Given the description of an element on the screen output the (x, y) to click on. 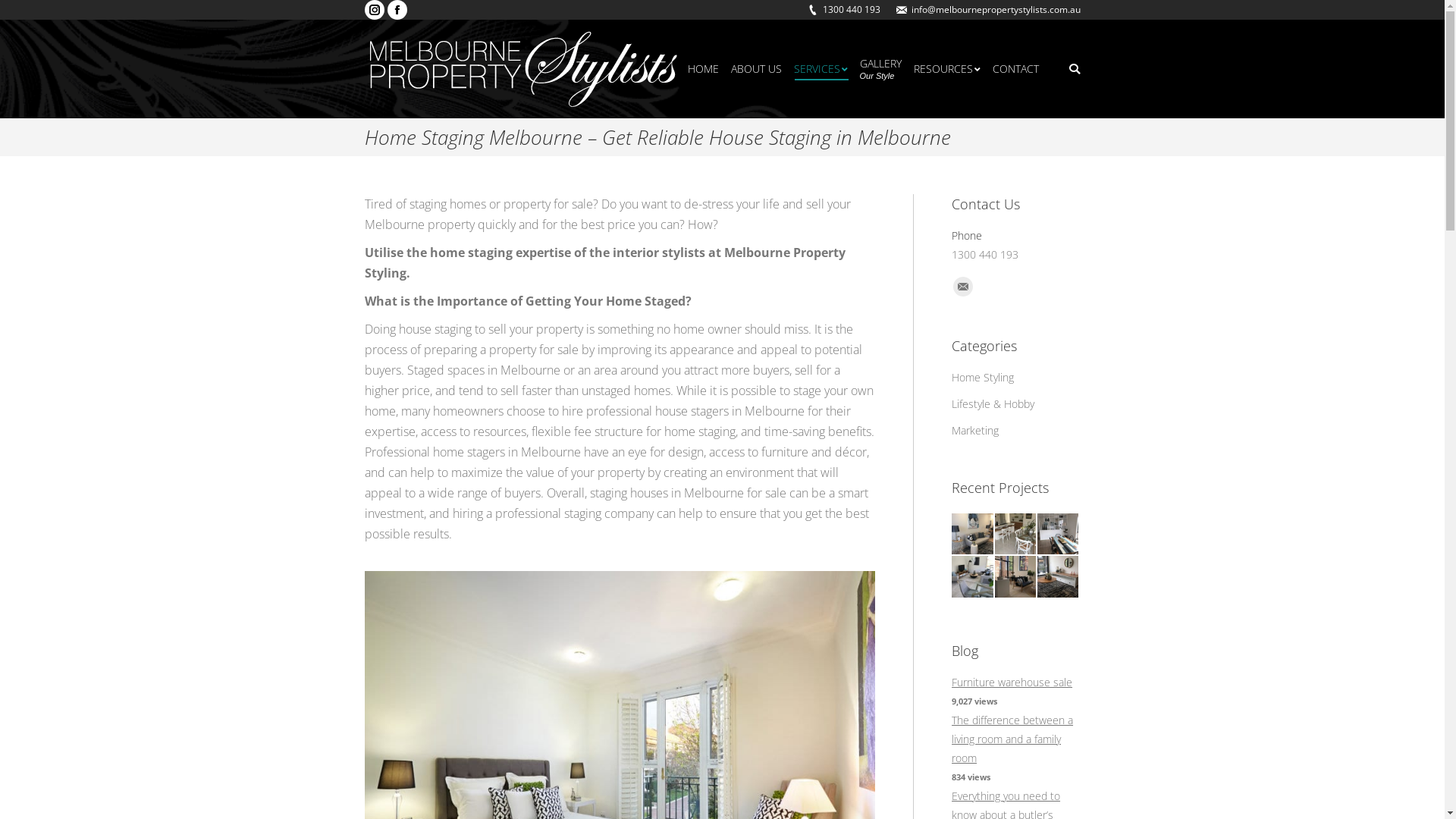
Spencer Street, Melbourne Element type: hover (1015, 576)
Marketing Element type: text (974, 429)
Home Styling Element type: text (982, 376)
Go! Element type: text (22, 14)
HOME Element type: text (702, 68)
Lifestyle & Hobby Element type: text (992, 403)
The difference between a living room and a family room Element type: text (1012, 738)
Facebook Element type: text (396, 9)
ABOUT US Element type: text (756, 68)
Thornhill Park, Display Home Two Element type: hover (1015, 534)
1300 440 193 Element type: text (850, 9)
Furniture warehouse sale Element type: text (1011, 681)
CONTACT Element type: text (1014, 68)
Parc View Display Suites, Bundoora Element type: hover (1058, 576)
SERVICES Element type: text (820, 68)
Tarniet Display Home, Two Element type: hover (972, 576)
West Melbourne, Victoria Element type: hover (972, 534)
Thornhill Park, Display Home One Element type: hover (1058, 534)
info@melbournepropertystylists.com.au Element type: text (995, 9)
Mail Element type: text (962, 286)
RESOURCES Element type: text (946, 68)
Instagram Element type: text (373, 9)
GALLERY
Our Style Element type: text (880, 68)
